Given the description of an element on the screen output the (x, y) to click on. 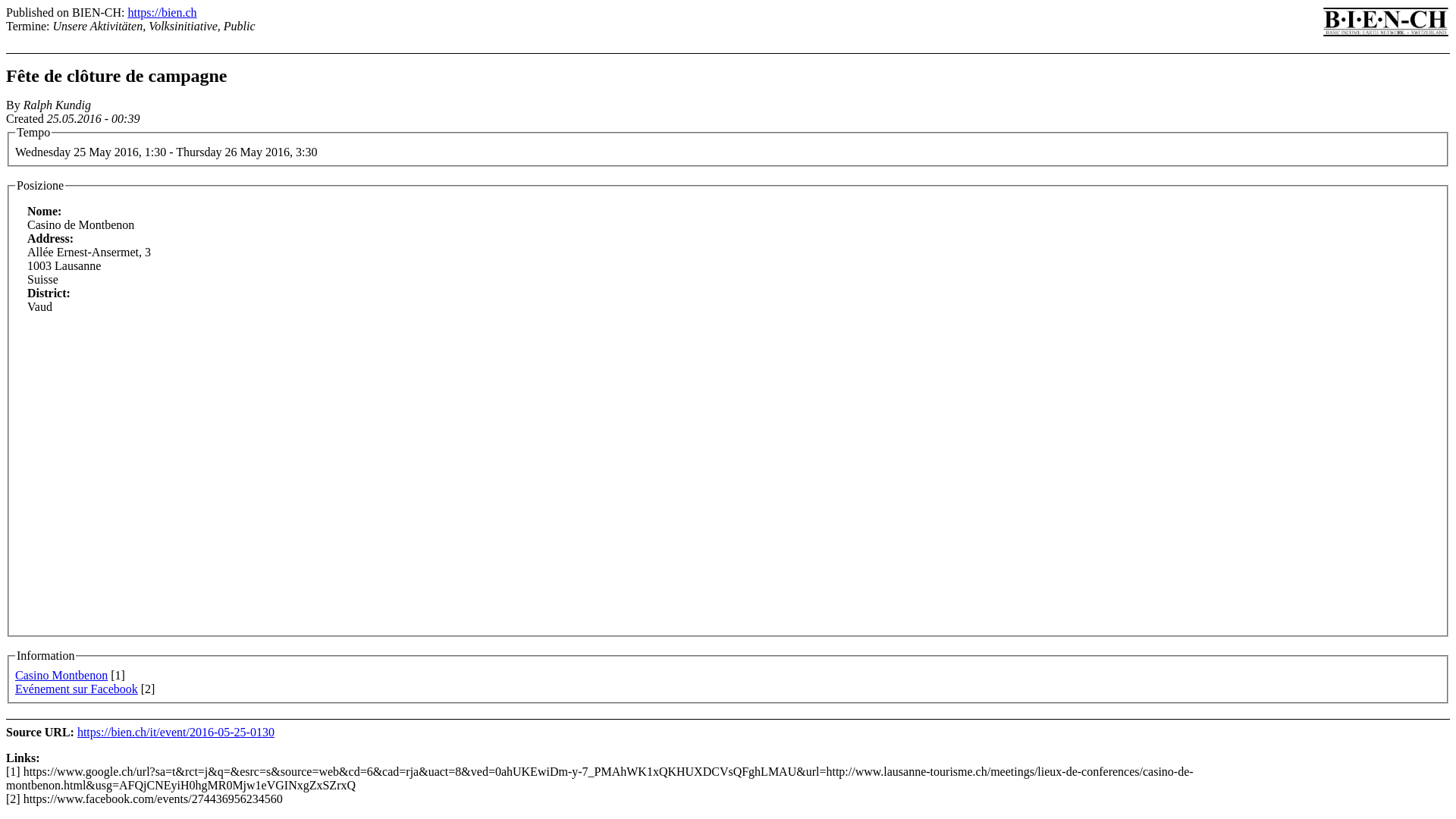
https://bien.ch/it/event/2016-05-25-0130 Element type: text (175, 731)
https://bien.ch Element type: text (161, 12)
Casino Montbenon Element type: text (61, 674)
